Given the description of an element on the screen output the (x, y) to click on. 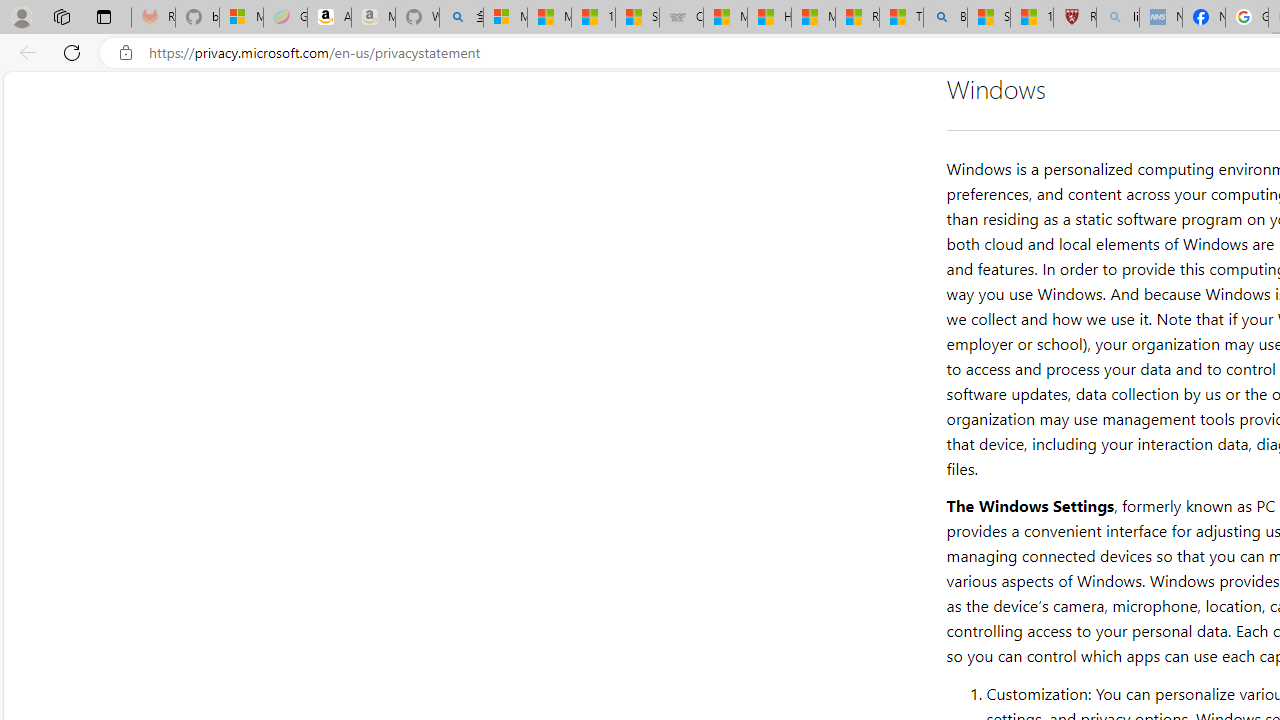
Stocks - MSN (637, 17)
Microsoft-Report a Concern to Bing (241, 17)
NCL Adult Asthma Inhaler Choice Guideline - Sleeping (1160, 17)
list of asthma inhalers uk - Search - Sleeping (1118, 17)
Combat Siege (681, 17)
Microsoft account | Privacy (505, 17)
12 Popular Science Lies that Must be Corrected (1032, 17)
